Given the description of an element on the screen output the (x, y) to click on. 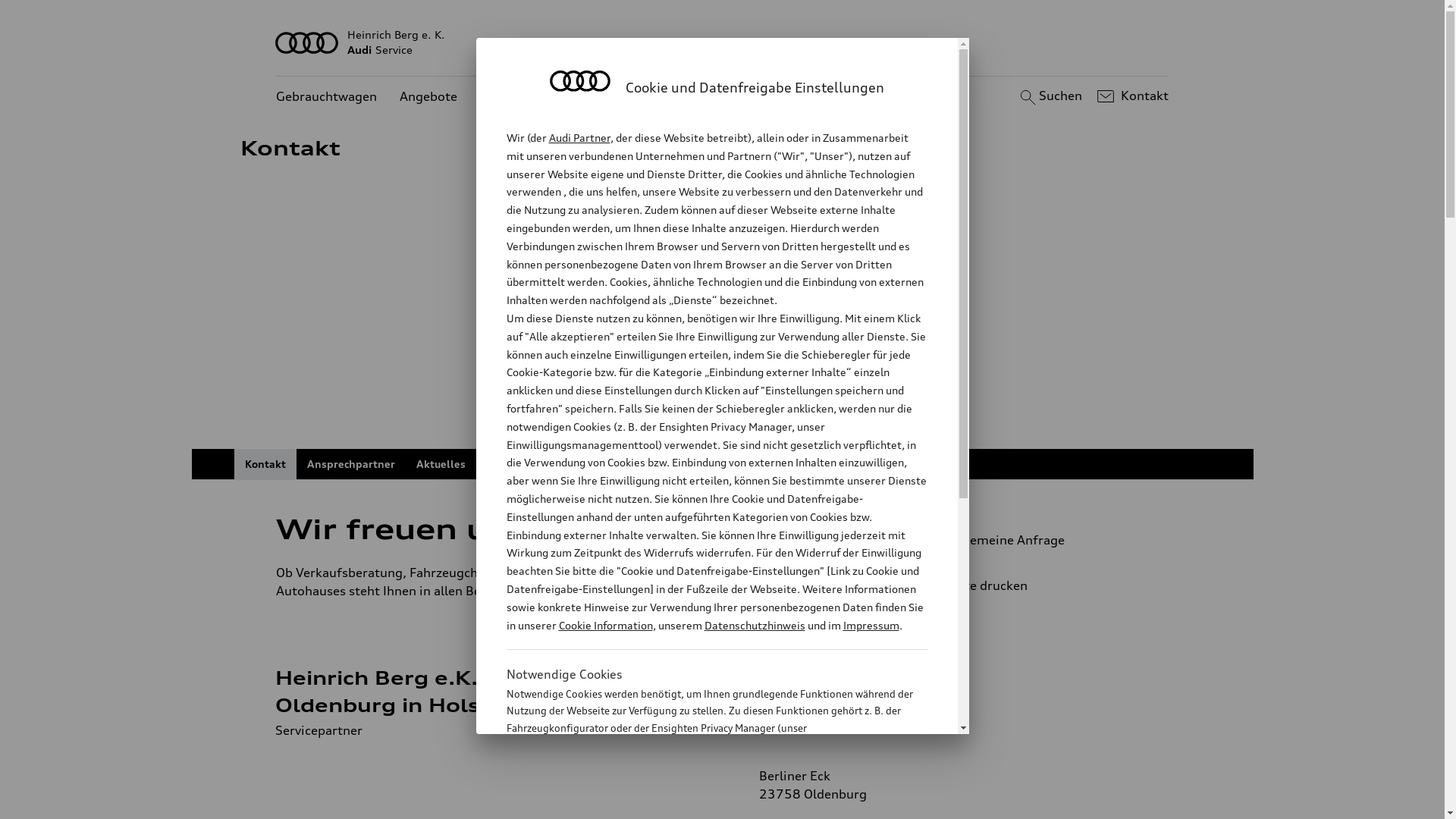
Seite drucken Element type: text (1044, 585)
Datenschutzhinweis Element type: text (753, 624)
Online Shop Element type: text (518, 463)
Gebrauchtwagen Element type: text (326, 96)
Aktuelles Element type: text (439, 463)
Ansprechpartner Element type: text (349, 463)
Kontakt Element type: text (264, 463)
Allgemeine Anfrage Element type: text (1038, 539)
Impressum Element type: text (871, 624)
Heinrich Berg e. K.
AudiService Element type: text (722, 42)
Cookie Information Element type: text (700, 802)
Kundenservice Element type: text (523, 96)
Berliner Eck
23758 Oldenburg Element type: text (812, 784)
Angebote Element type: text (428, 96)
Audi Partner Element type: text (579, 137)
Kontakt Element type: text (1130, 96)
Cookie Information Element type: text (605, 624)
Suchen Element type: text (1049, 96)
